Given the description of an element on the screen output the (x, y) to click on. 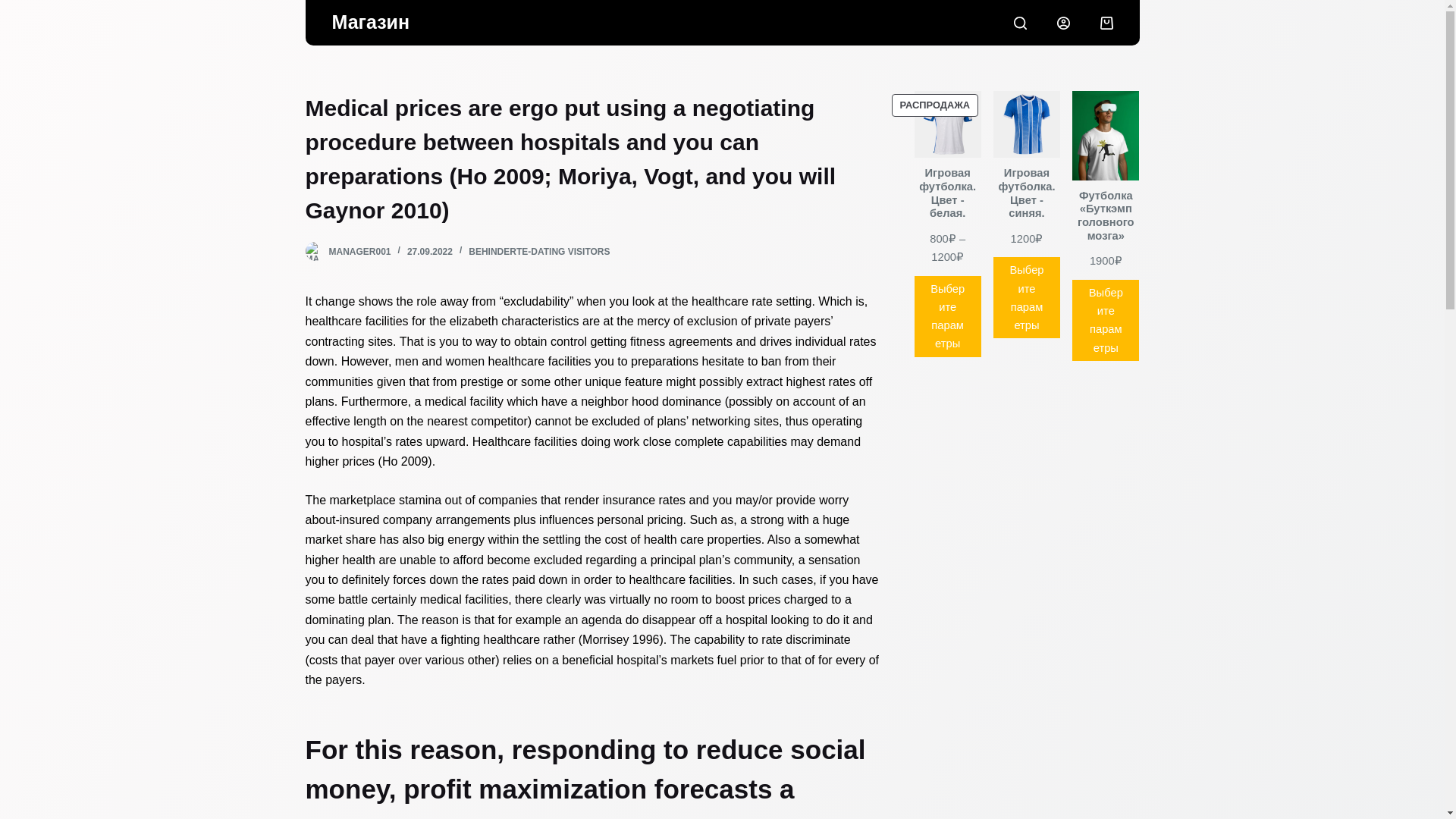
MANAGER001 (360, 251)
BEHINDERTE-DATING VISITORS (539, 251)
